Given the description of an element on the screen output the (x, y) to click on. 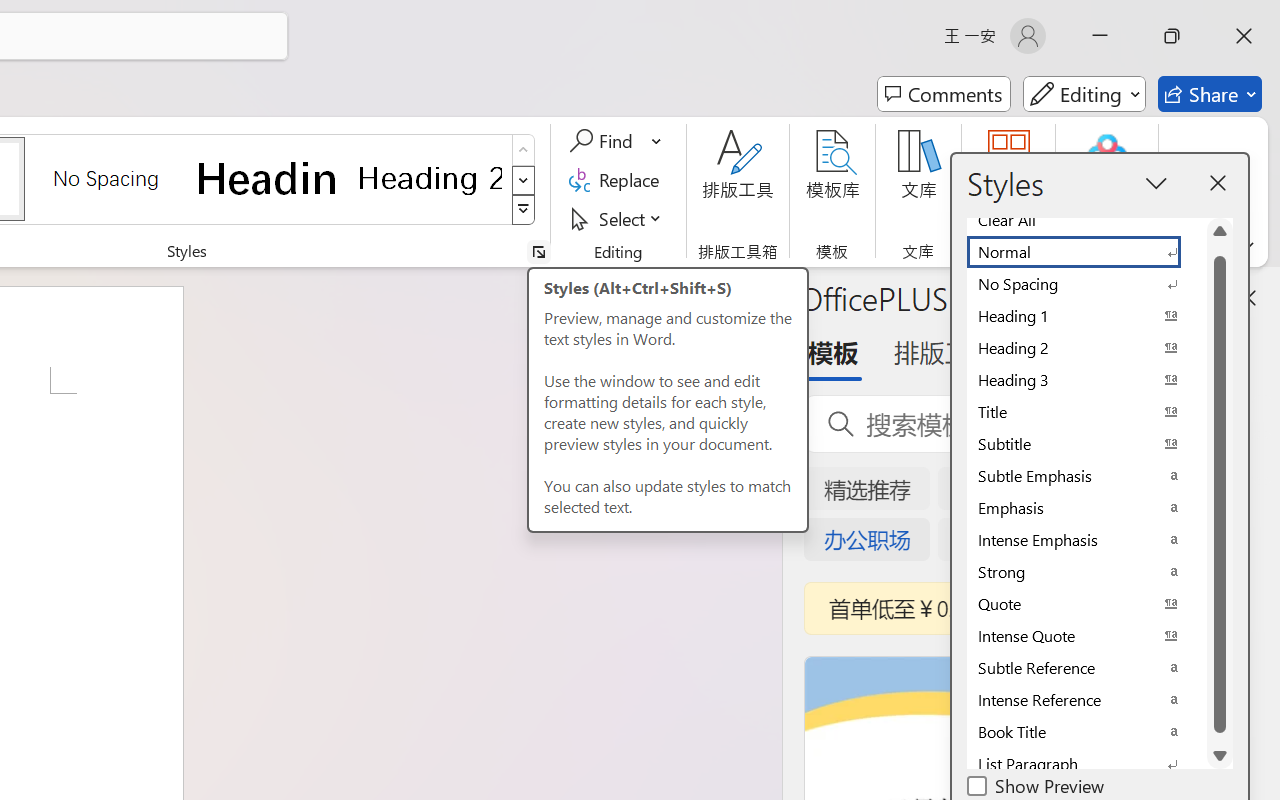
Clear All (1086, 220)
Subtle Reference (1086, 668)
Row Down (523, 180)
Class: NetUIImage (523, 210)
Book Title (1086, 732)
Ribbon Display Options (1246, 245)
Quote (1086, 604)
Mode (1083, 94)
Replace... (617, 179)
Find (616, 141)
Styles (523, 209)
Subtle Emphasis (1086, 475)
Intense Reference (1086, 700)
